Given the description of an element on the screen output the (x, y) to click on. 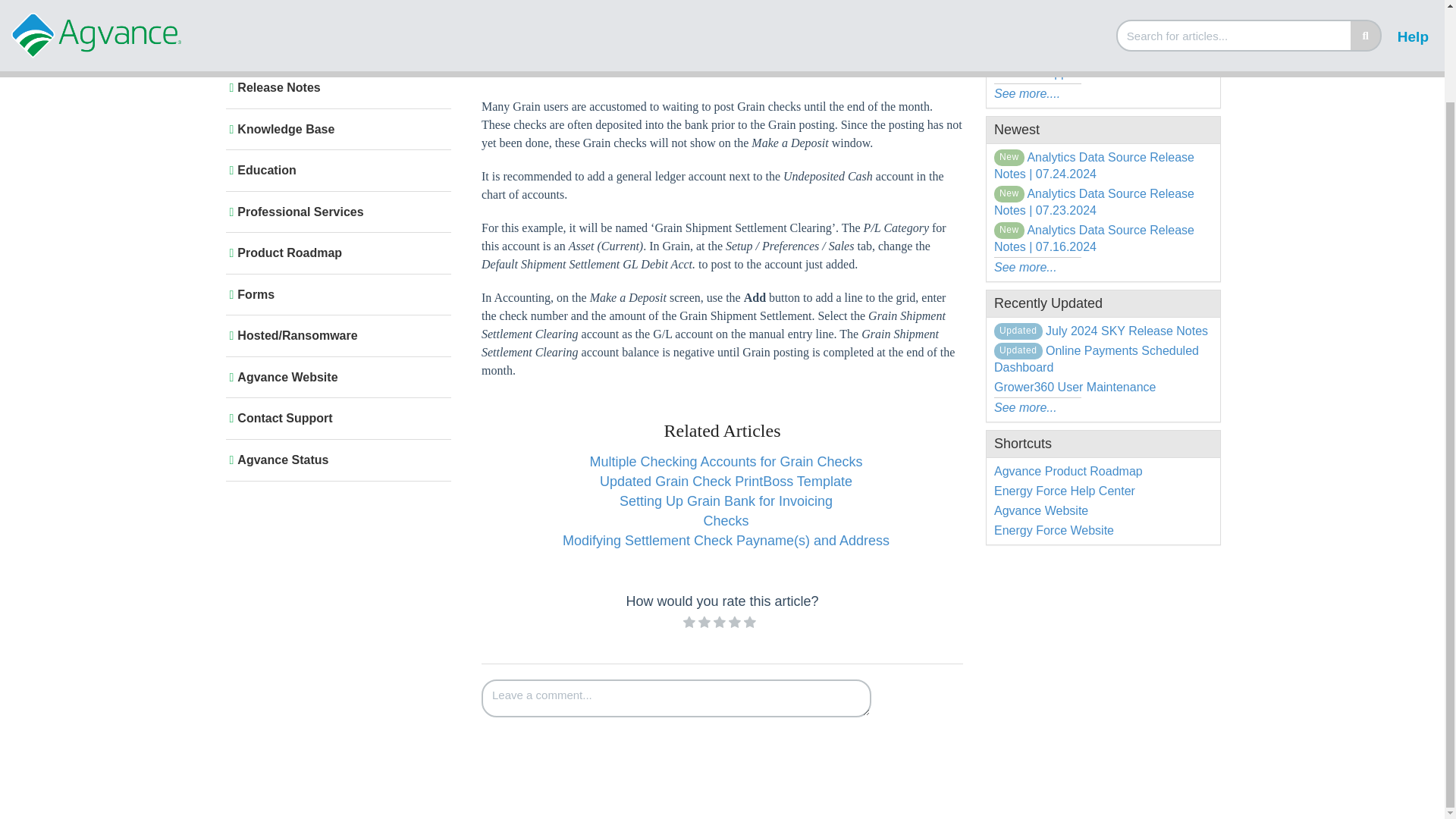
Agvance Solutions Newsletter (334, 46)
Product Roadmap (334, 253)
Agvance Website (334, 377)
Education (334, 170)
Home (495, 2)
Release Notes (334, 87)
Agvance Status (334, 460)
Professional Services (334, 212)
Knowledge Base (334, 129)
Forms (334, 294)
Knowledge Base (566, 3)
Accounting (643, 2)
Knowledge Base (565, 2)
Bank Deposit (802, 3)
Download PDF (647, 38)
